Given the description of an element on the screen output the (x, y) to click on. 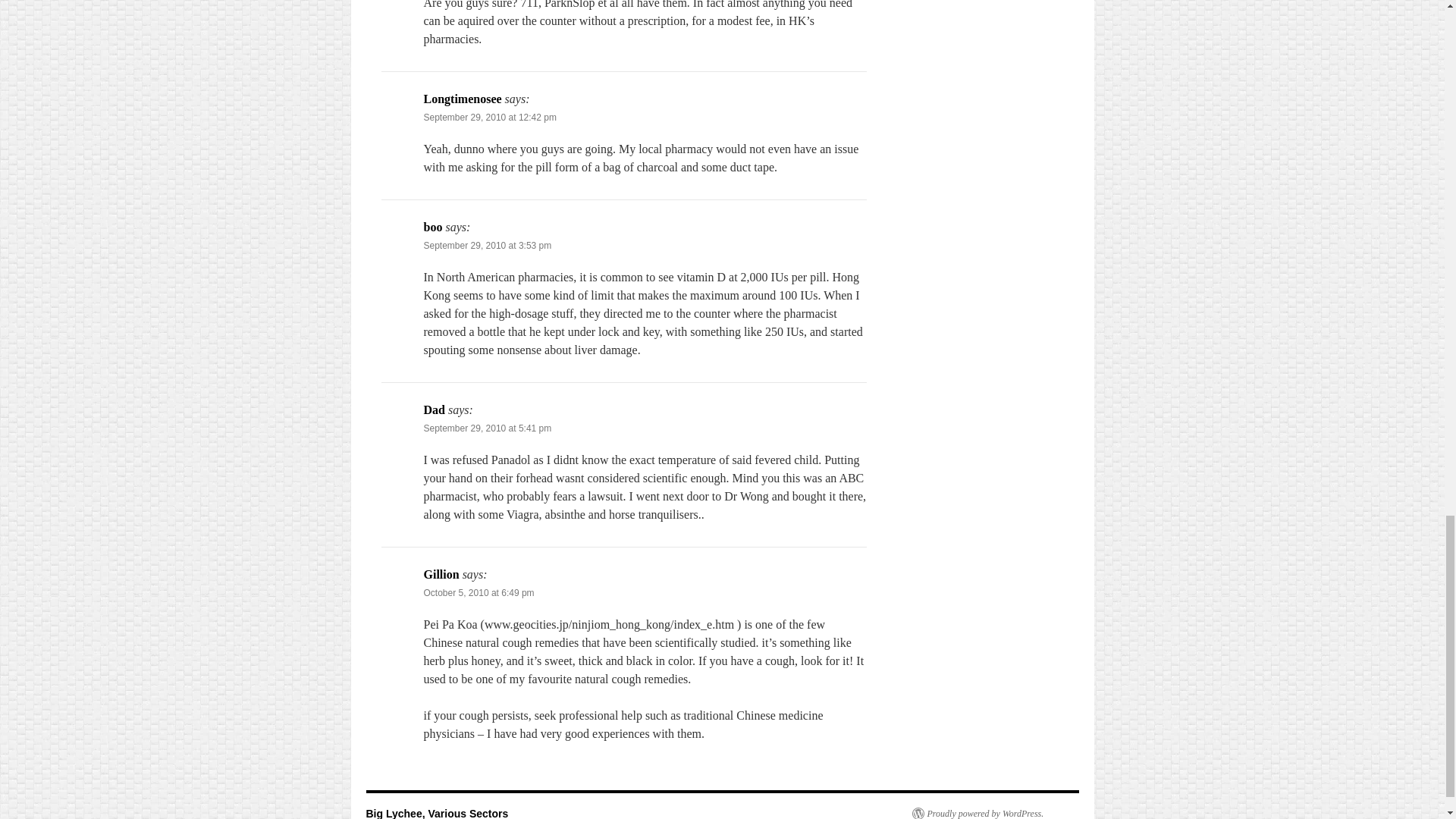
September 29, 2010 at 5:41 pm (487, 428)
September 29, 2010 at 3:53 pm (487, 245)
October 5, 2010 at 6:49 pm (478, 593)
September 29, 2010 at 12:42 pm (489, 117)
